Given the description of an element on the screen output the (x, y) to click on. 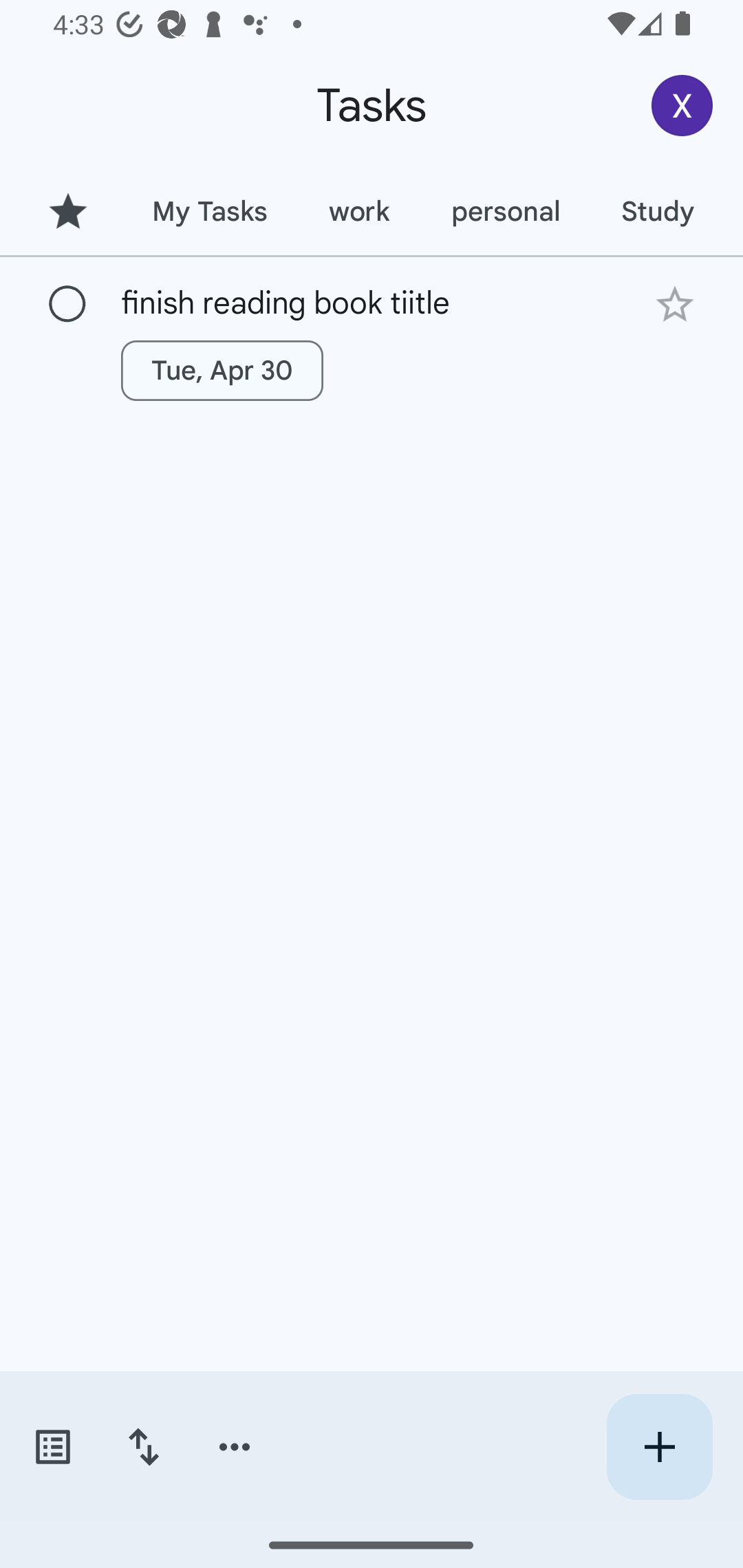
Starred (67, 211)
My Tasks (209, 211)
work (358, 211)
personal (504, 211)
Study (656, 211)
Add star (674, 303)
Mark as complete (67, 304)
Tue, Apr 30 (222, 369)
Switch task lists (52, 1447)
Create new task (659, 1446)
Change sort order (143, 1446)
More options (234, 1446)
